Given the description of an element on the screen output the (x, y) to click on. 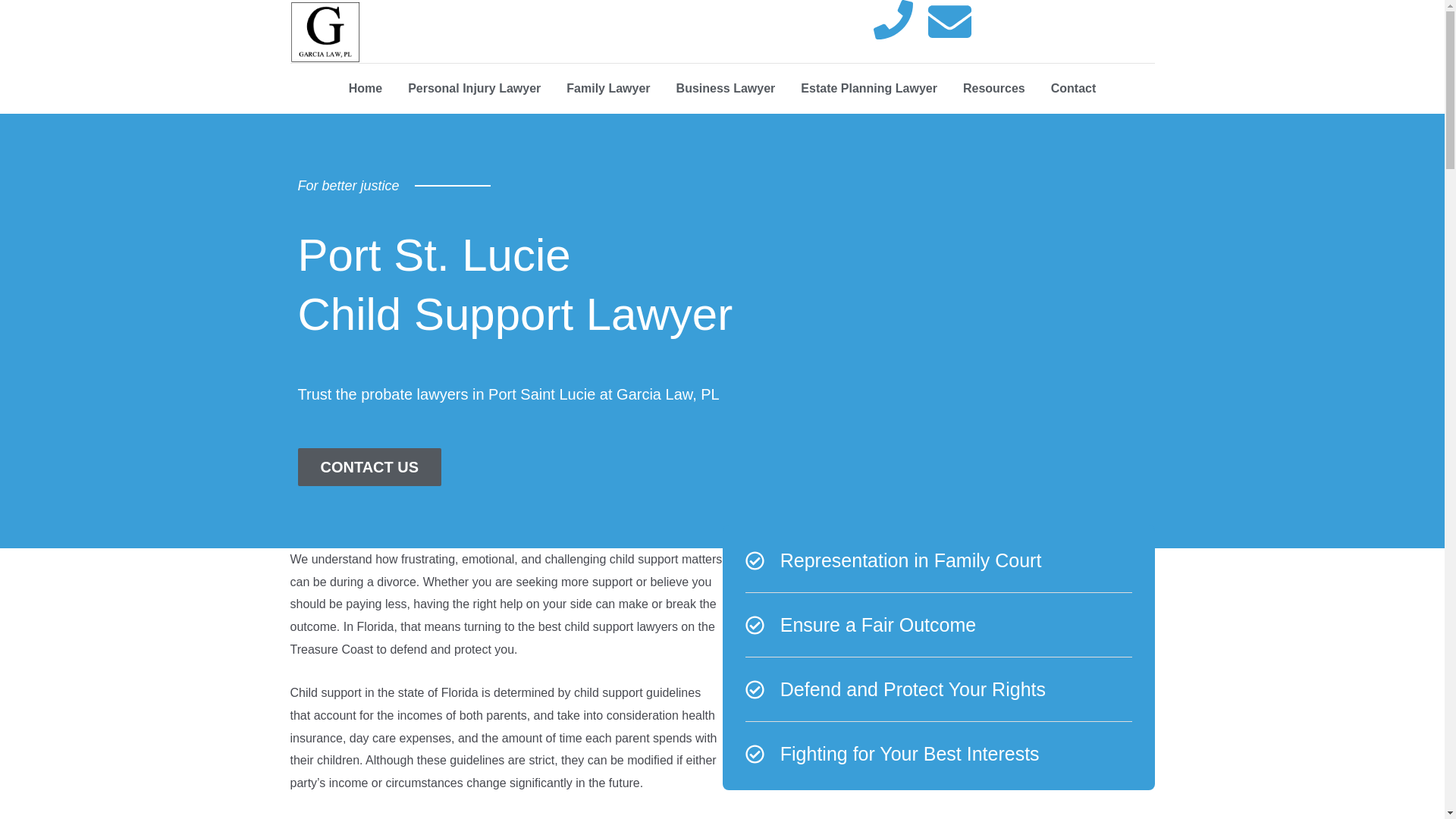
Resources (994, 88)
Personal Injury Lawyer (473, 88)
Family Lawyer (607, 88)
Estate Planning Lawyer (868, 88)
Business Lawyer (726, 88)
Home (365, 88)
Contact (1073, 88)
